Given the description of an element on the screen output the (x, y) to click on. 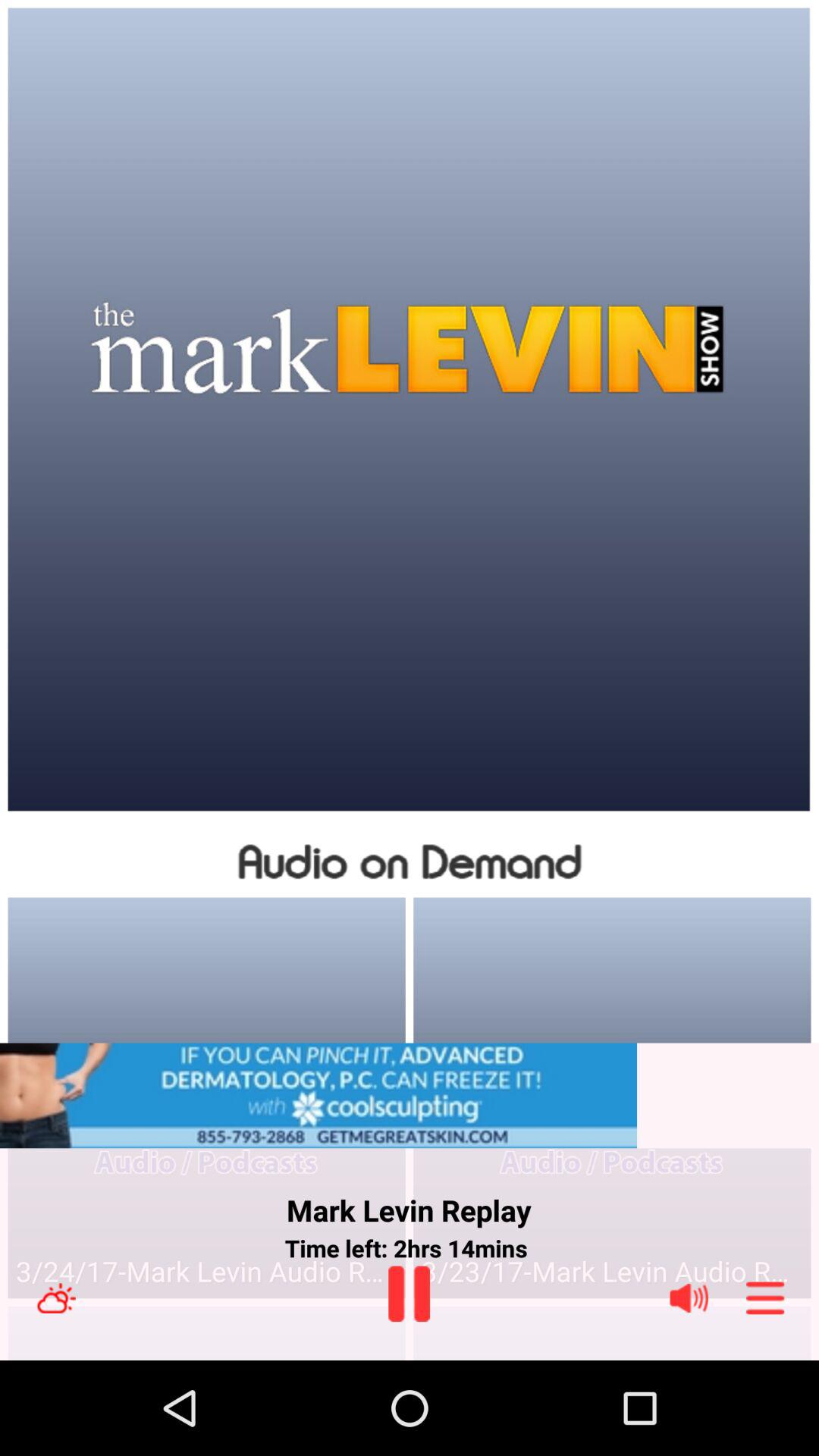
click on the first icon from right (764, 1297)
click on play icon below time left 2hrs 14mins (408, 1294)
